Given the description of an element on the screen output the (x, y) to click on. 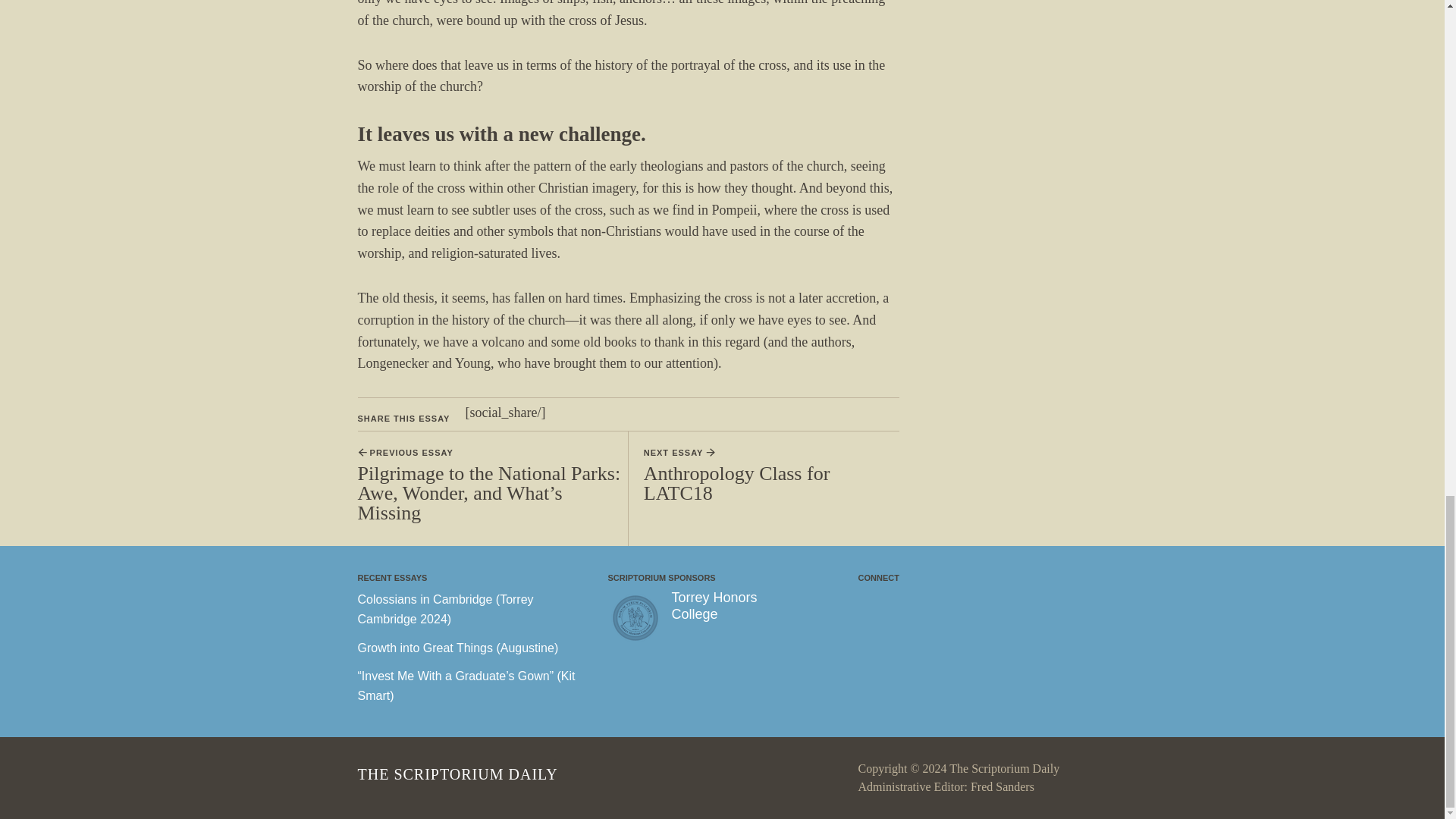
Anthropology Class for LATC18 (736, 483)
